Given the description of an element on the screen output the (x, y) to click on. 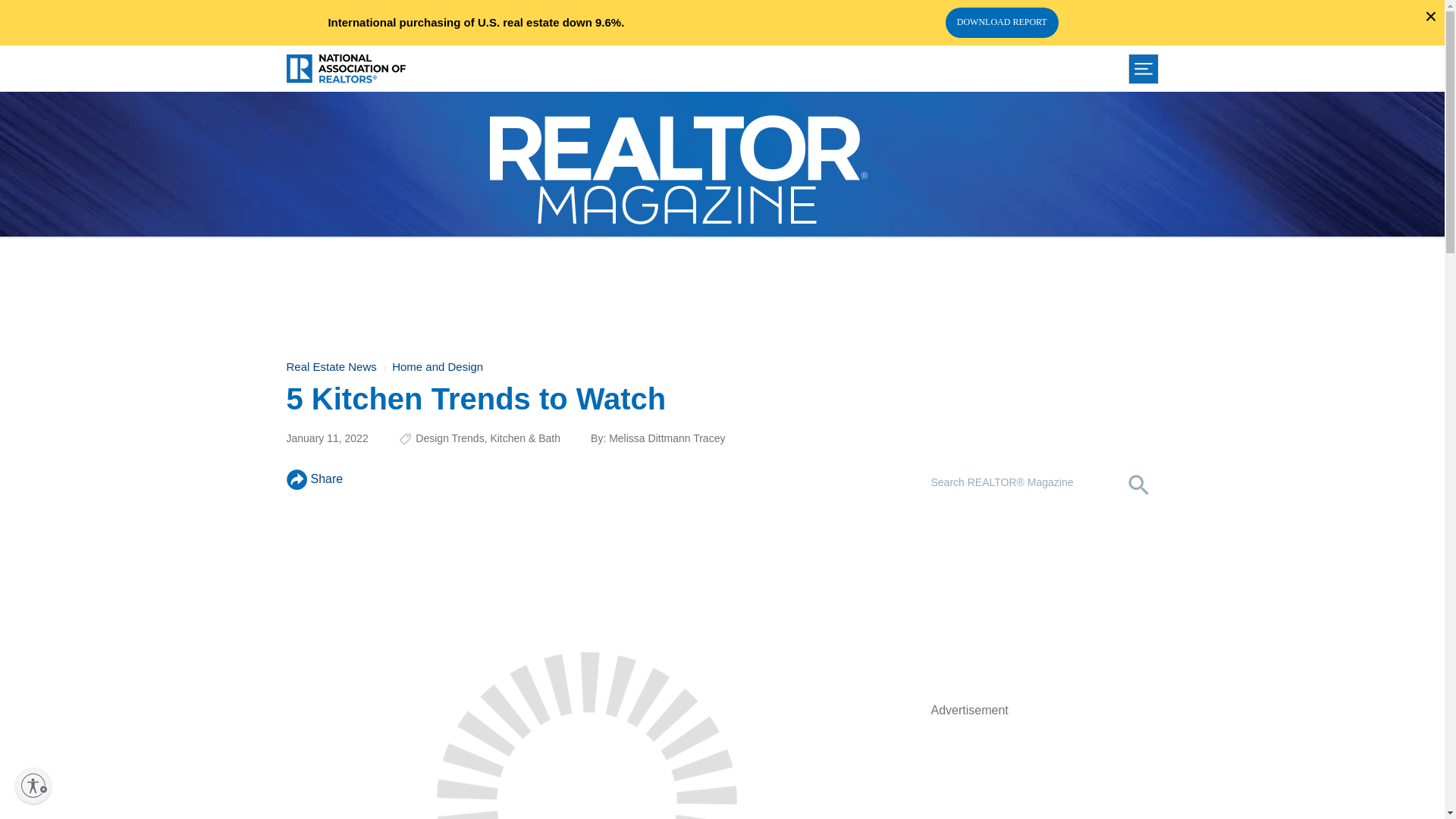
Skip to main content (721, 3)
3rd party ad content (721, 290)
DOWNLOAD REPORT (1001, 22)
Enable accessibility (32, 785)
3rd party ad content (1044, 605)
